Given the description of an element on the screen output the (x, y) to click on. 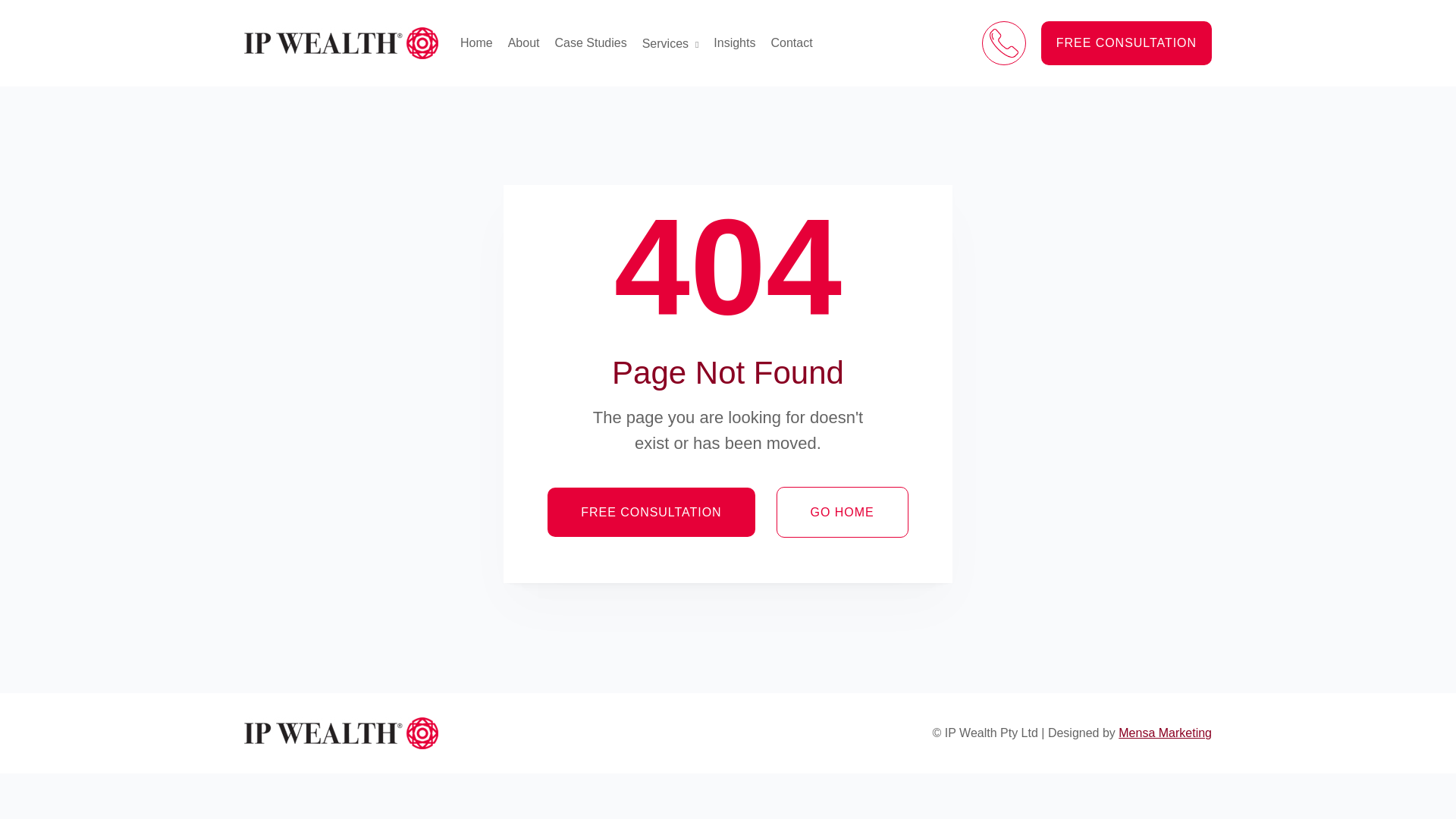
About Element type: text (523, 43)
Home Element type: text (476, 43)
FREE CONSULTATION Element type: text (1126, 43)
GO HOME Element type: text (842, 512)
Contact Element type: text (791, 43)
FREE CONSULTATION Element type: text (650, 512)
Insights Element type: text (734, 43)
Case Studies Element type: text (591, 43)
Mensa Marketing Element type: text (1164, 732)
